Given the description of an element on the screen output the (x, y) to click on. 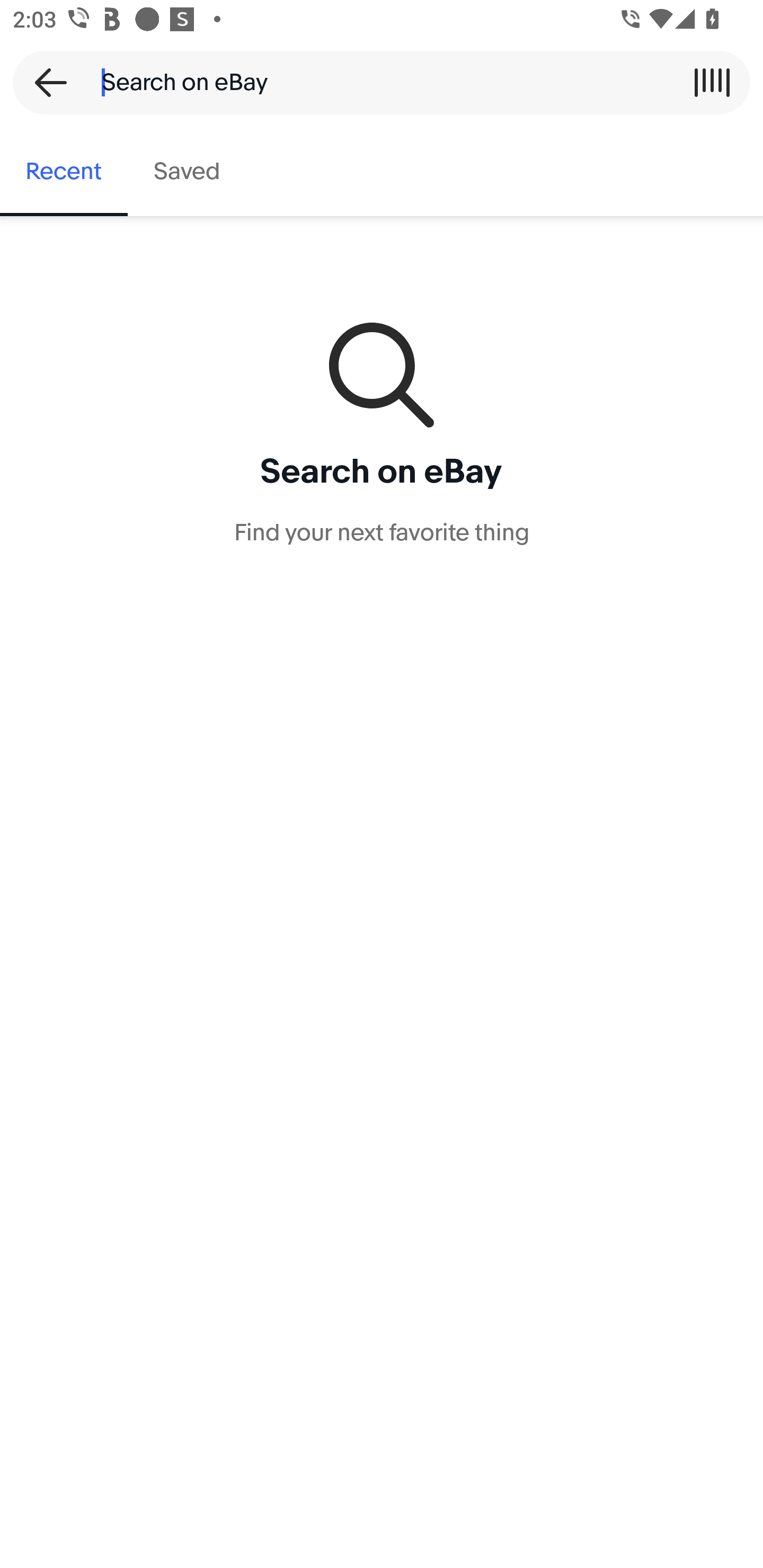
Back (44, 82)
Scan a barcode (711, 82)
Search on eBay (375, 82)
Saved, tab 2 of 2 Saved (186, 171)
